Given the description of an element on the screen output the (x, y) to click on. 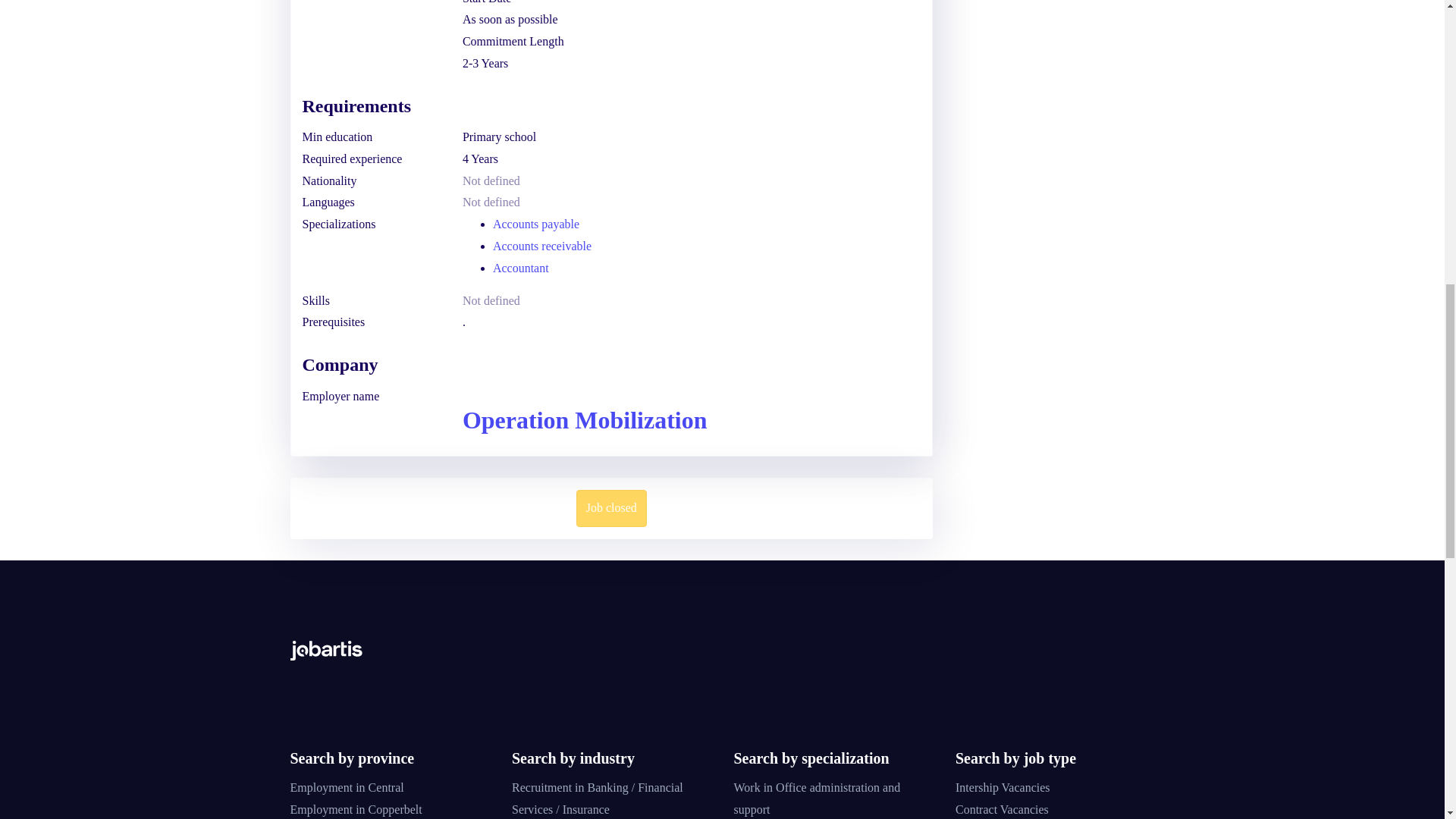
Operation Mobilization (585, 420)
Job closed (611, 508)
Accounts receivable (542, 245)
Work in Office administration and support (817, 798)
Accountant (520, 267)
Employment in Copperbelt (355, 809)
Accounts payable (536, 223)
Employment in Central (346, 787)
